Given the description of an element on the screen output the (x, y) to click on. 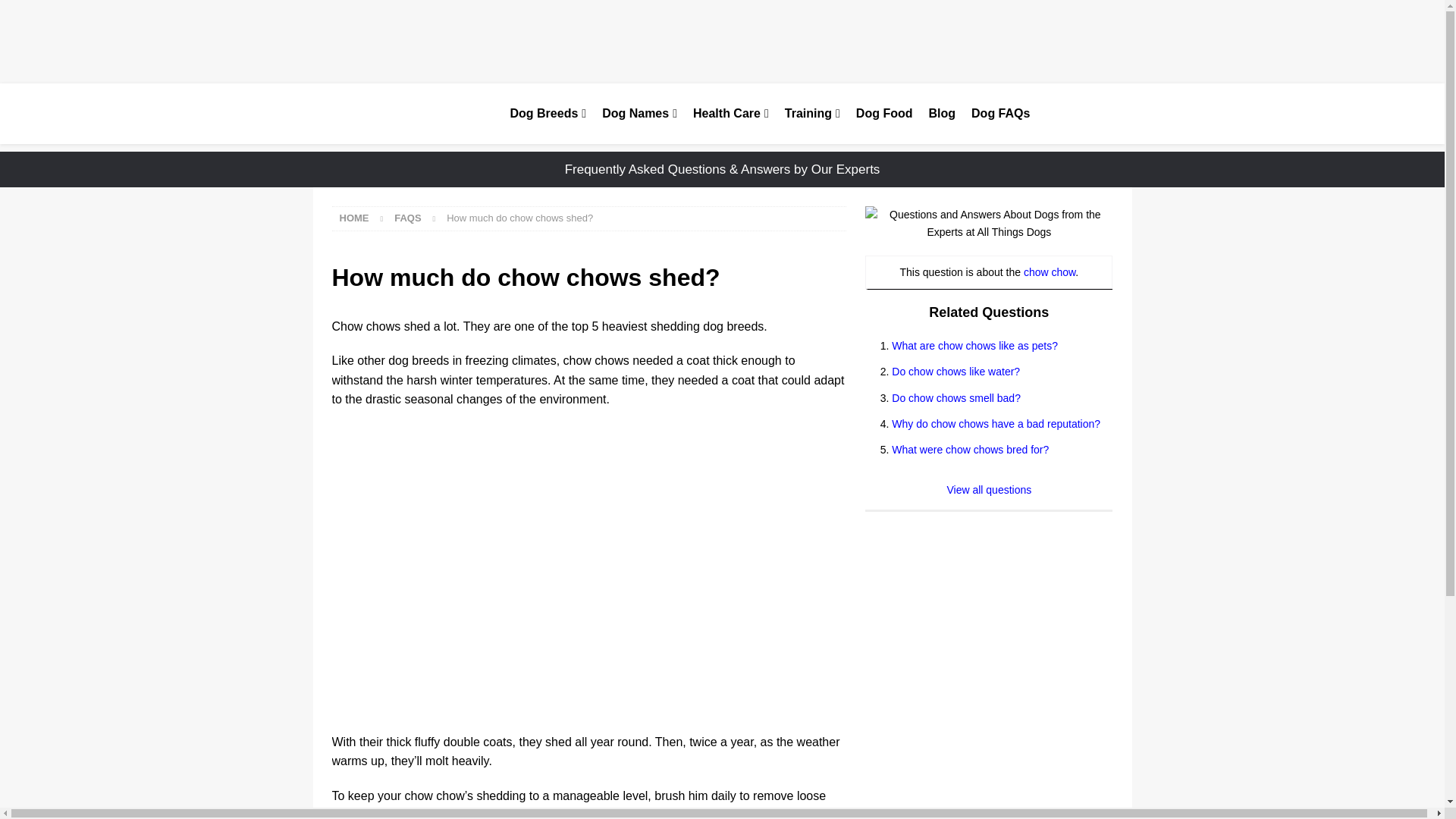
Home (354, 217)
Health Care (730, 113)
Blog (941, 113)
Training (811, 113)
Dog Breeds (548, 113)
Dog FAQs (999, 113)
All Things Dogs (410, 113)
Dog Names (639, 113)
Dog Food (883, 113)
FAQs (407, 217)
